Given the description of an element on the screen output the (x, y) to click on. 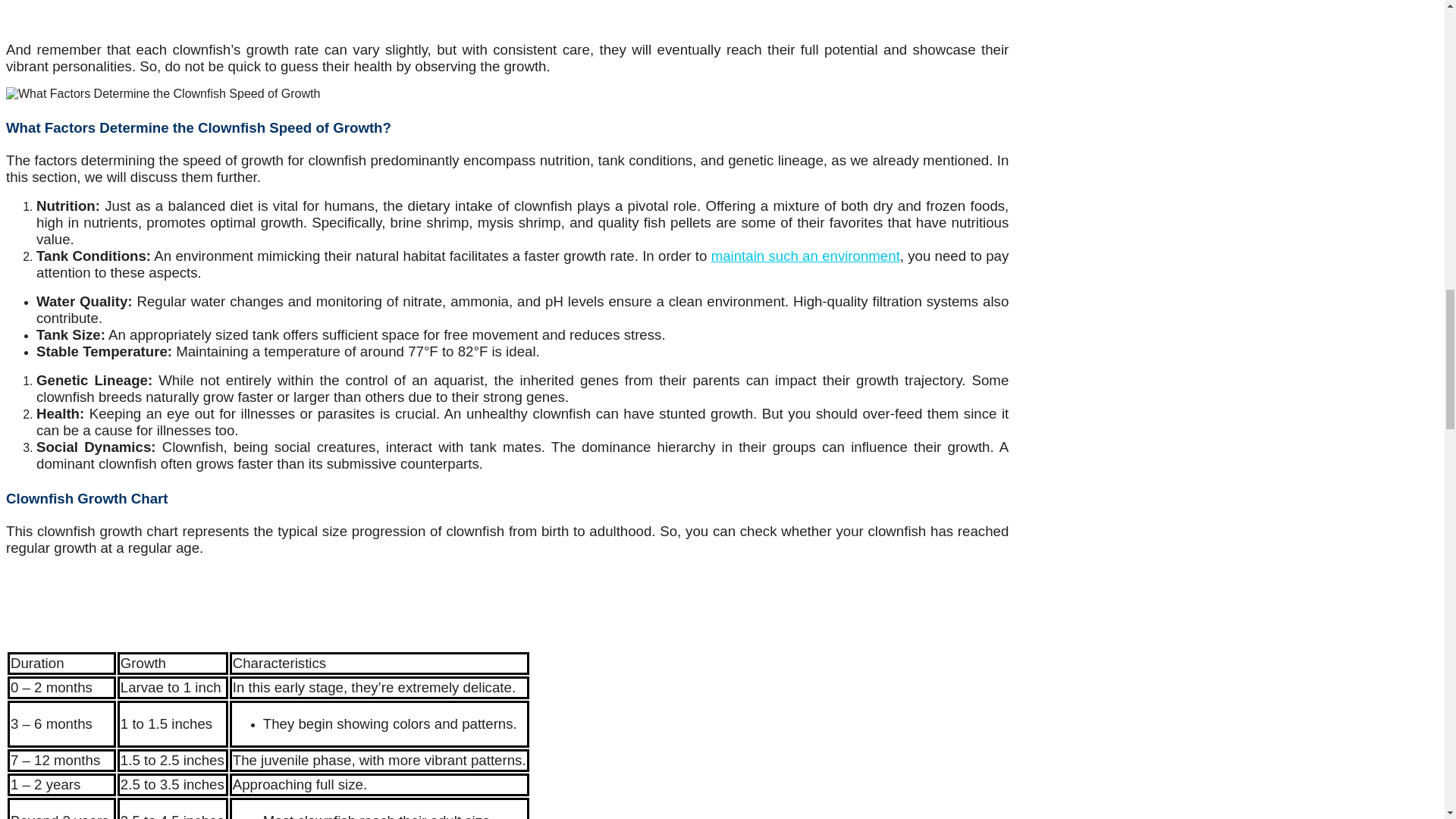
maintain such an environment (805, 255)
